Given the description of an element on the screen output the (x, y) to click on. 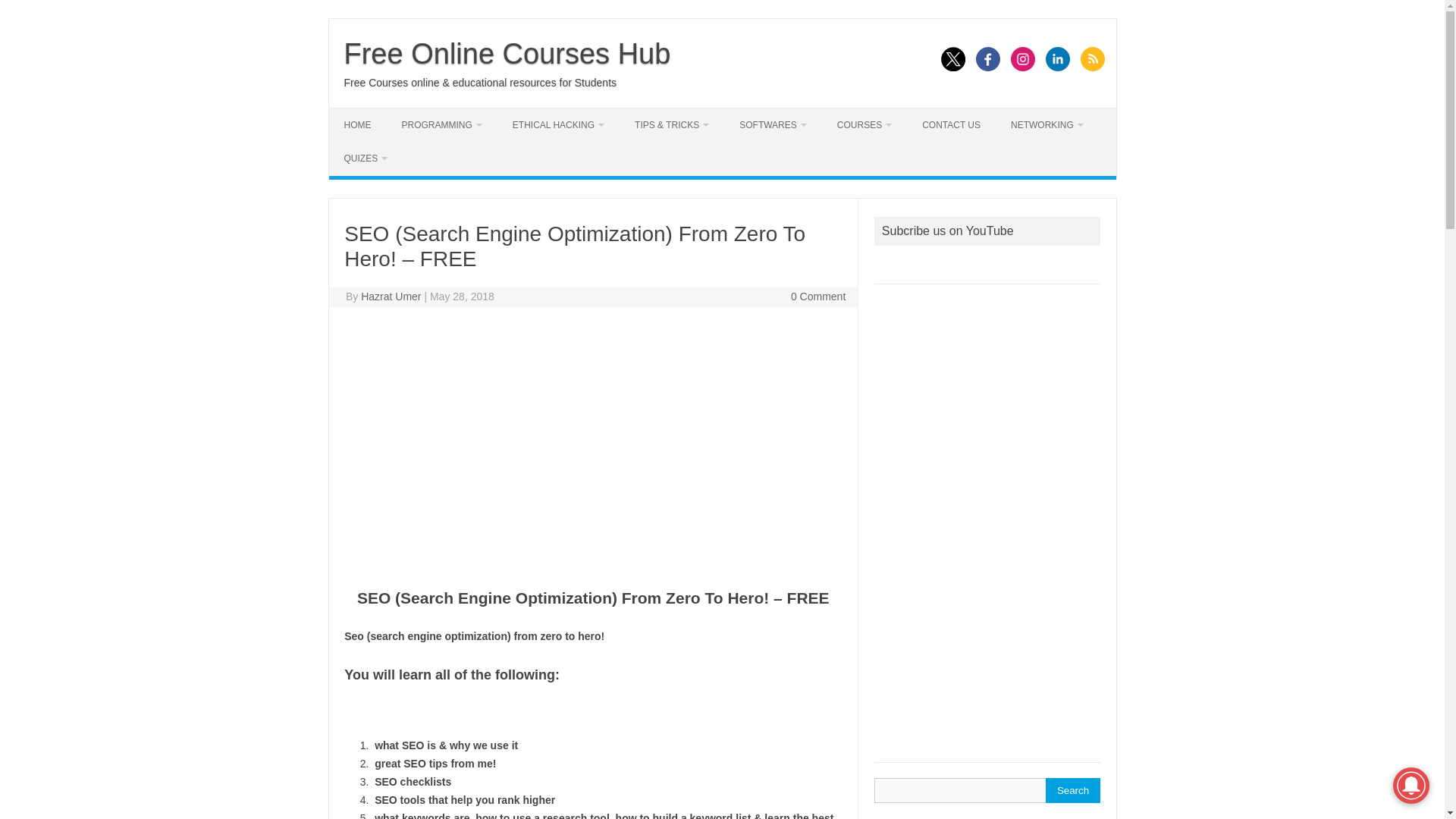
COURSES (864, 124)
SOFTWARES (772, 124)
HOME (358, 124)
Free Online Courses Hub (507, 53)
Advertisement (592, 461)
Search (1072, 790)
Advertisement (987, 530)
Posts by Hazrat Umer (390, 296)
PROGRAMMING (442, 124)
Free Online Courses Hub (507, 53)
ETHICAL HACKING (558, 124)
